Given the description of an element on the screen output the (x, y) to click on. 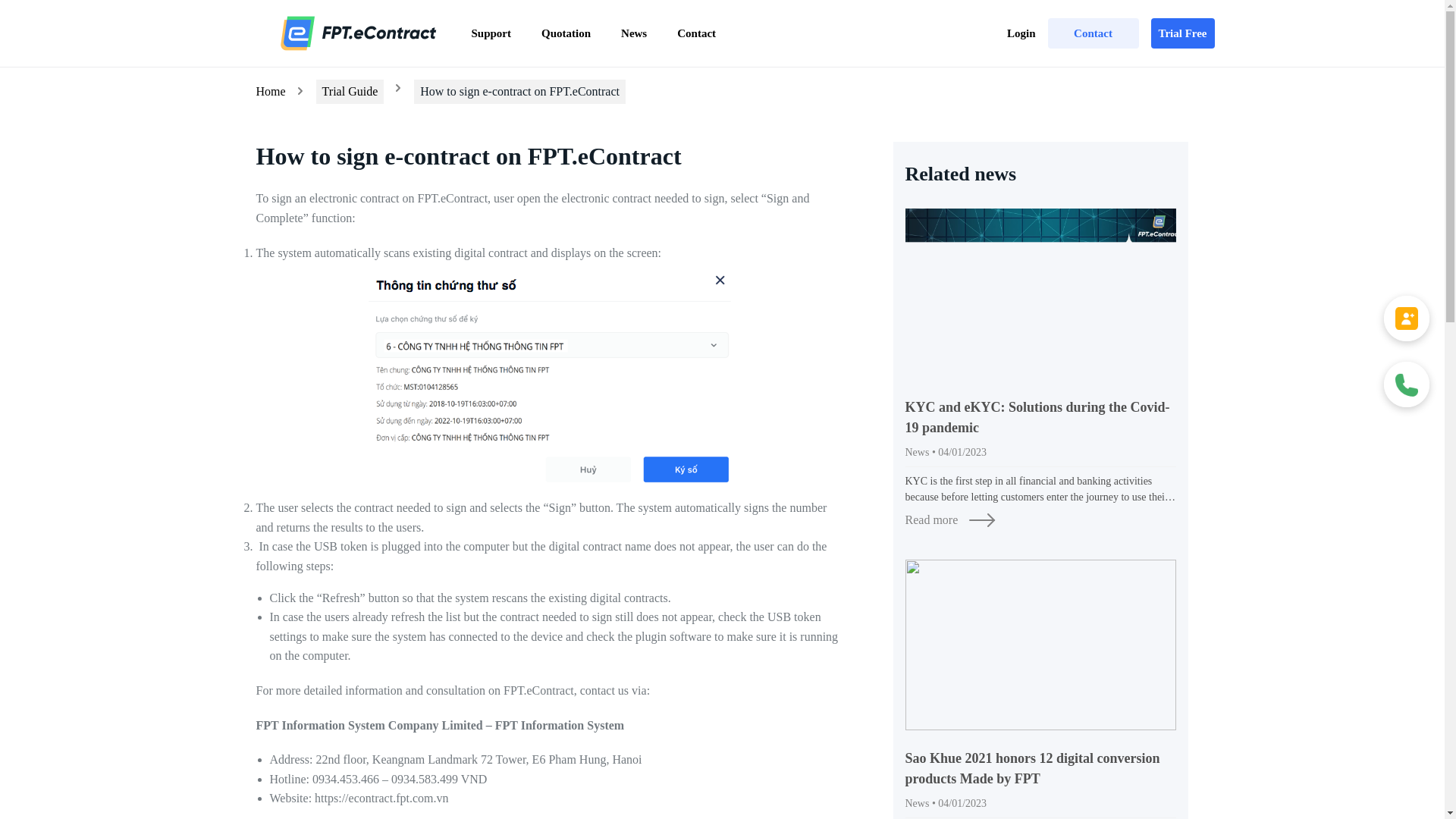
KYC and eKYC: Solutions during the Covid-19 pandemic (1040, 417)
Home (270, 91)
Read more (1040, 520)
Trial Guide (349, 91)
Quotation (566, 33)
Trial Free (1182, 33)
News (633, 33)
Support (491, 33)
Contact (696, 33)
